Given the description of an element on the screen output the (x, y) to click on. 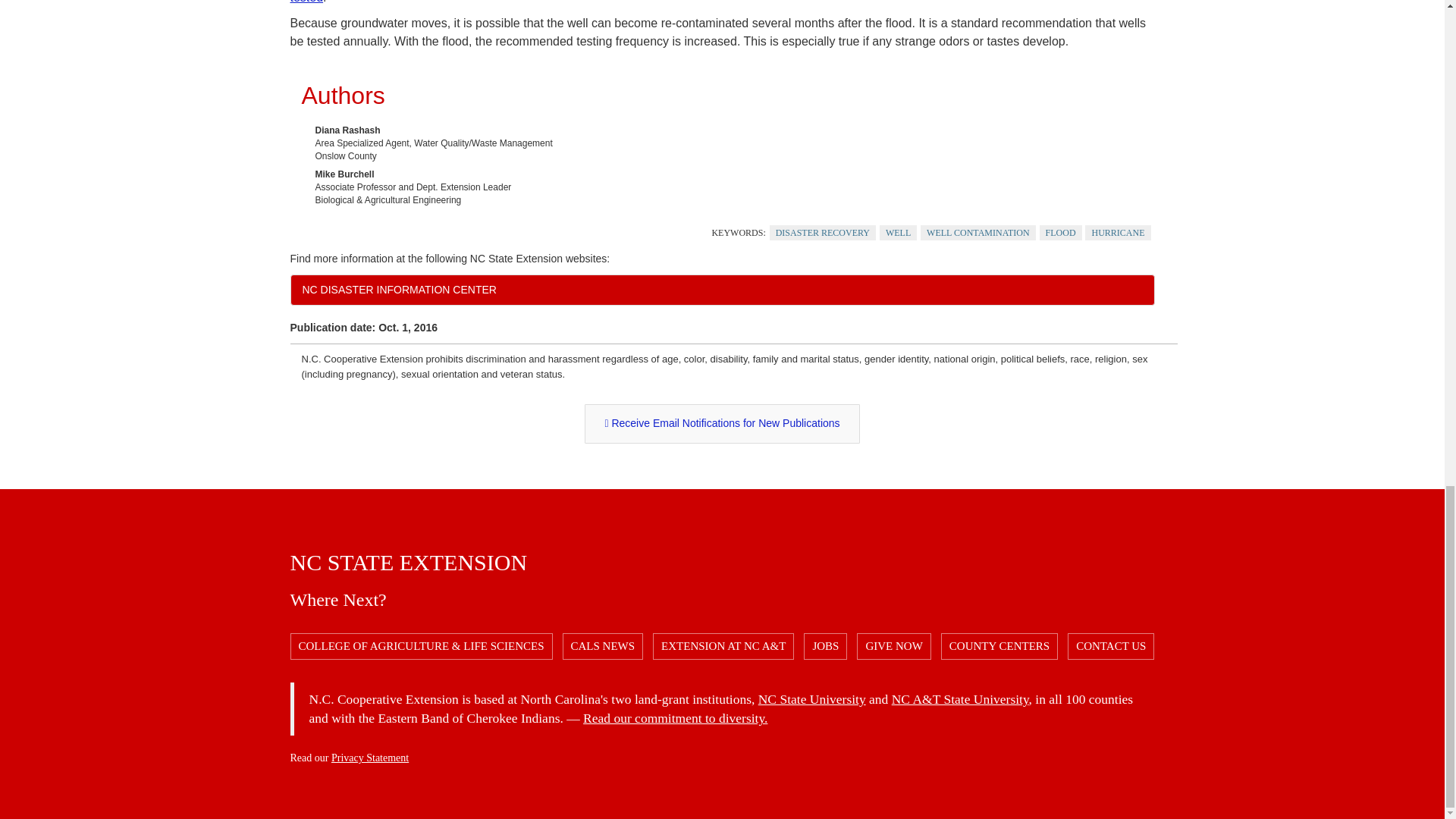
FLOOD (1060, 232)
NC STATE EXTENSION (408, 561)
NC DISASTER INFORMATION CENTER (721, 289)
DISASTER RECOVERY (823, 232)
WELL CONTAMINATION (977, 232)
CALS NEWS (602, 646)
Receive Email Notifications for New Publications (722, 423)
HURRICANE (1117, 232)
WELL (898, 232)
